Given the description of an element on the screen output the (x, y) to click on. 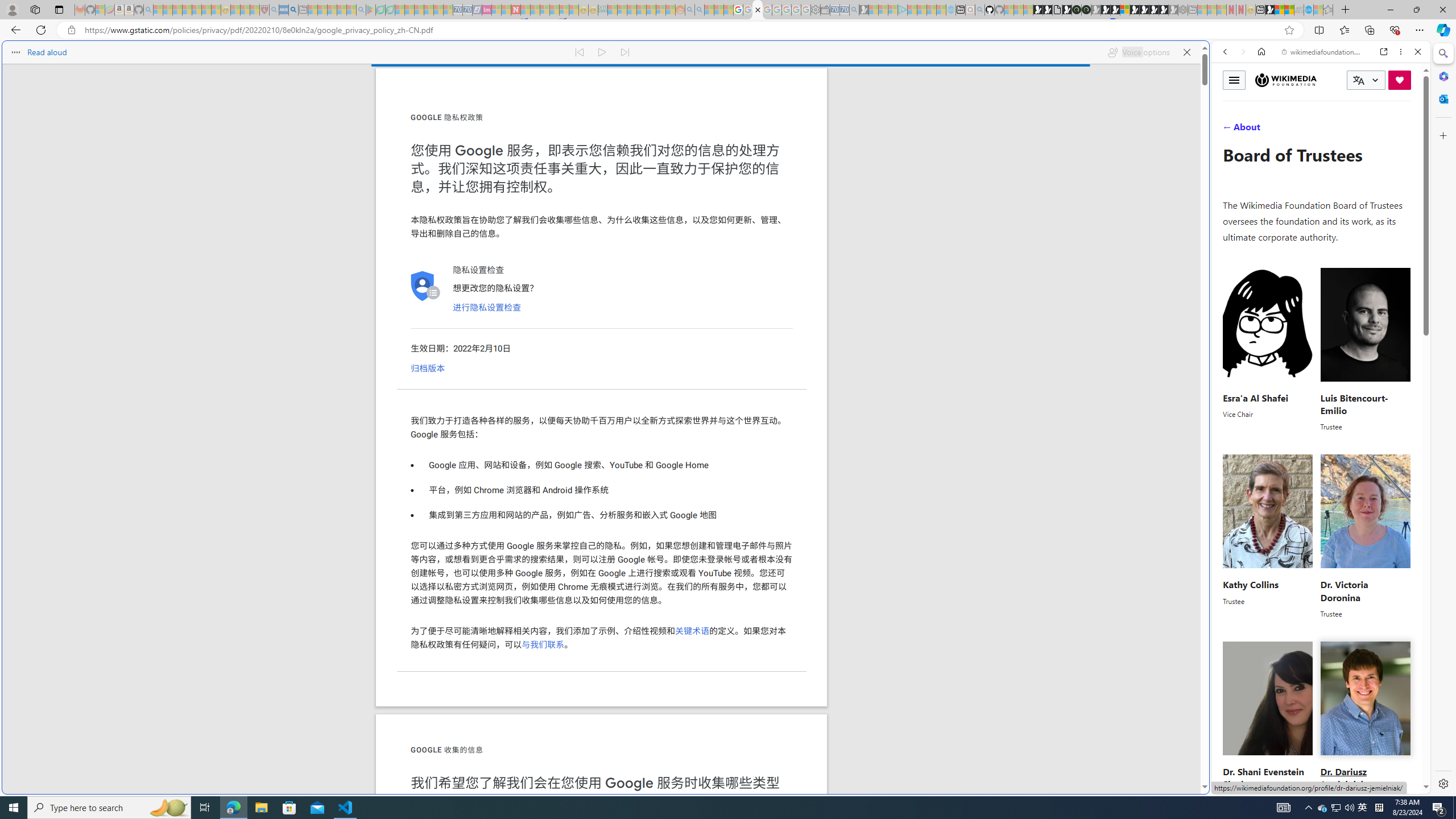
Read previous paragraph (579, 52)
Close read aloud (1186, 52)
Dr. Shani Evenstein SigalovTrustee (1268, 723)
